Given the description of an element on the screen output the (x, y) to click on. 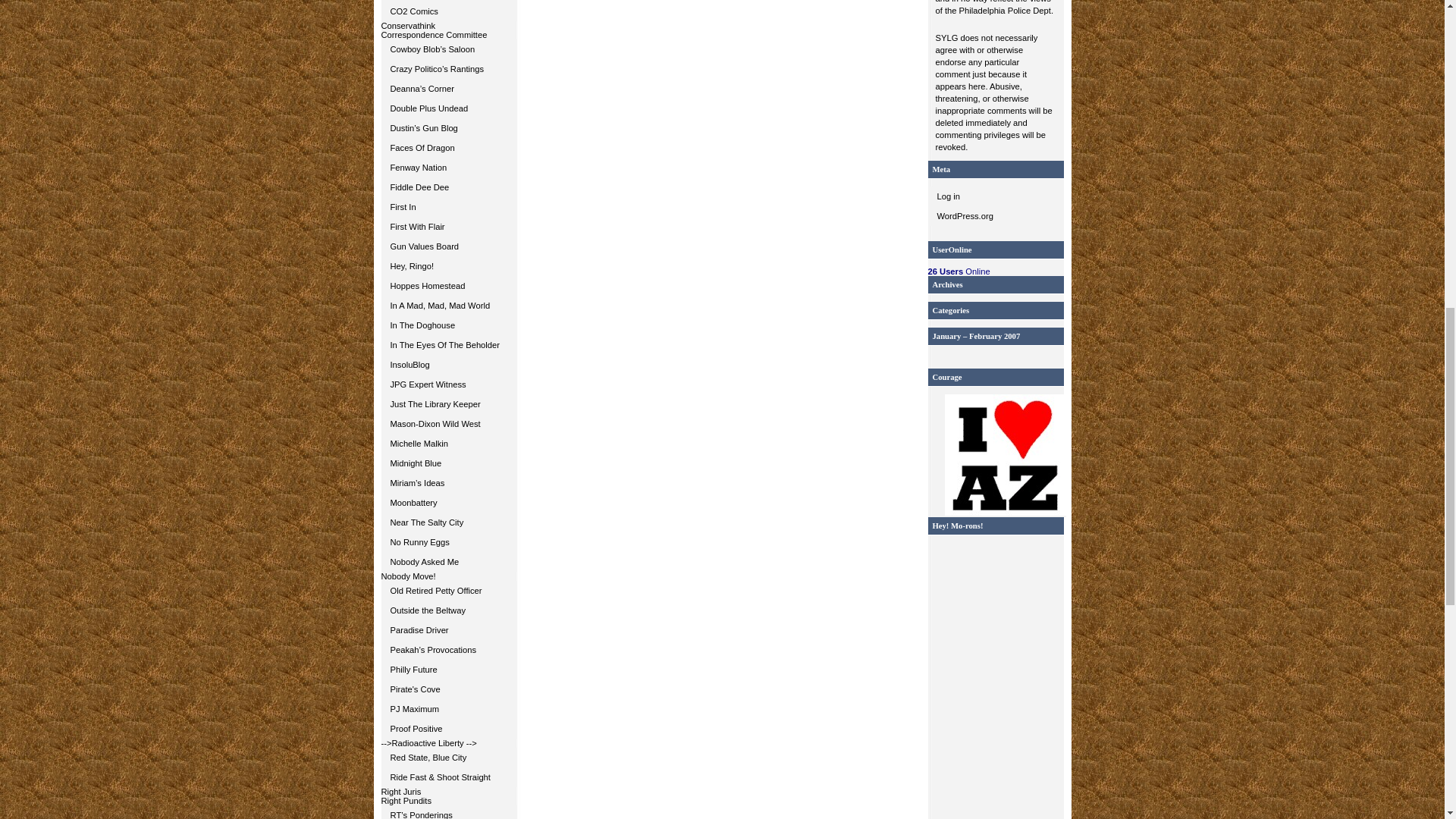
Gun Values Board (448, 246)
Hoppes Homestead (448, 285)
Faces Of Dragon (448, 148)
In The Doghouse (448, 324)
Food For The Faithful (448, 0)
Central PA Orthodox (448, 0)
CO2 Comics (448, 11)
Fiddle Dee Dee (448, 187)
In The Eyes Of The Beholder (448, 344)
Double Plus Undead (448, 107)
Fenway Nation (448, 167)
First In (448, 207)
In A Mad, Mad, Mad World (448, 305)
First With Flair (448, 226)
JPG Expert Witness (448, 383)
